Given the description of an element on the screen output the (x, y) to click on. 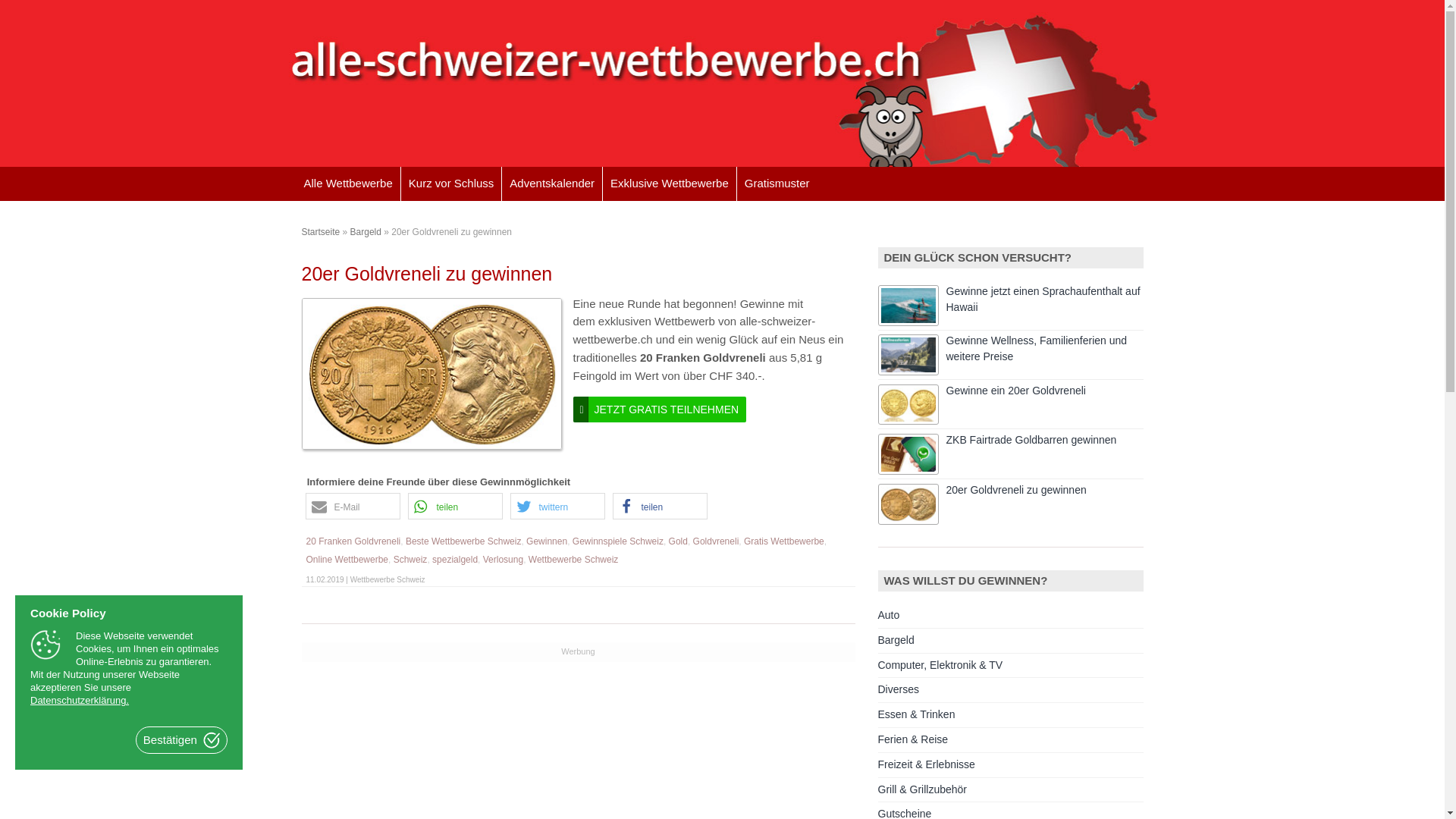
Gewinnspiele Schweiz Element type: text (617, 541)
Exklusive Wettbewerbe Element type: text (669, 182)
Gold Element type: text (677, 541)
Ferien & Reise Element type: text (913, 739)
Beste Wettbewerbe Schweiz Element type: text (463, 541)
Wettbewerbe Schweiz Element type: text (573, 559)
Schweiz Element type: text (410, 559)
Kurz vor Schluss Element type: text (451, 182)
Essen & Trinken Element type: text (916, 714)
20er Goldvreneli zu gewinnen Element type: text (1016, 489)
Freizeit & Erlebnisse Element type: text (926, 764)
Gewinne ein 20er Goldvreneli Element type: text (1015, 390)
Bargeld Element type: text (896, 639)
Alle Wettbewerbe Element type: text (347, 182)
Online Wettbewerbe Element type: text (347, 559)
E-Mail  Element type: text (351, 505)
Gewinne jetzt einen Sprachaufenthalt auf Hawaii Element type: text (1043, 299)
Computer, Elektronik & TV Element type: text (940, 664)
Alle Schweizer Wettbewerbe Element type: hover (722, 83)
Goldvreneli Element type: text (716, 541)
spezialgeld Element type: text (454, 559)
Gewinnen Element type: text (546, 541)
Gewinne Wellness, Familienferien und weitere Preise Element type: text (1036, 348)
Bargeld Element type: text (365, 231)
Gratis Wettbewerbe Element type: text (783, 541)
teilen  Element type: text (659, 505)
Auto Element type: text (889, 614)
Adventskalender Element type: text (551, 182)
twittern  Element type: text (556, 505)
Verlosung Element type: text (503, 559)
Diverses Element type: text (898, 689)
teilen  Element type: text (454, 505)
Gratismuster Element type: text (776, 182)
Startseite Element type: text (320, 231)
ZKB Fairtrade Goldbarren gewinnen Element type: text (1031, 439)
20 Franken Goldvreneli Element type: text (353, 541)
